Given the description of an element on the screen output the (x, y) to click on. 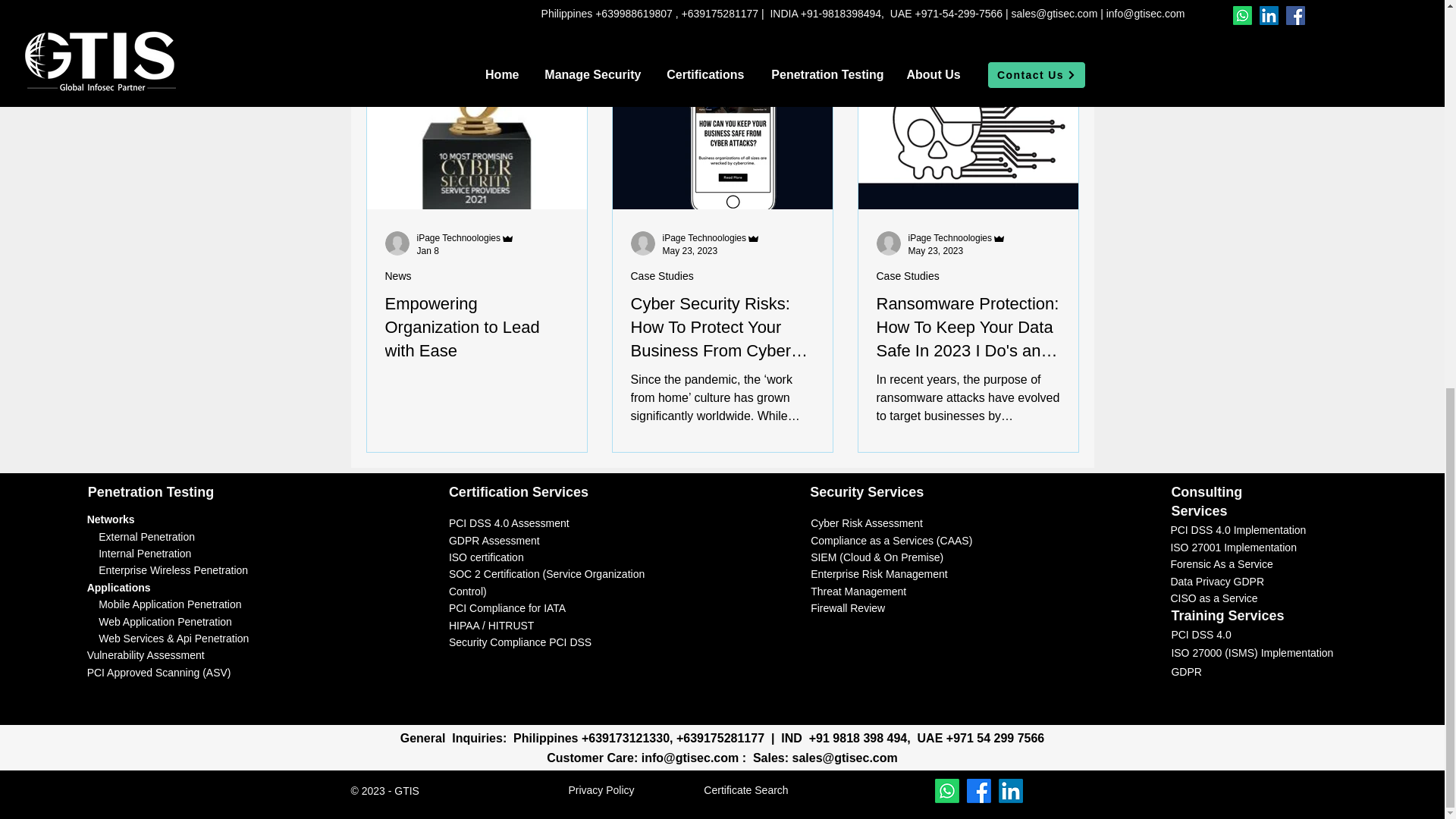
Empowering Organization to Lead with Ease (477, 327)
iPage Technoologies (711, 237)
Jan 8 (427, 250)
iPage Technoologies (950, 237)
Submit (897, 581)
iPage Technoologies (704, 237)
May 23, 2023 (689, 250)
iPage Technoologies (465, 237)
News (398, 276)
